Given the description of an element on the screen output the (x, y) to click on. 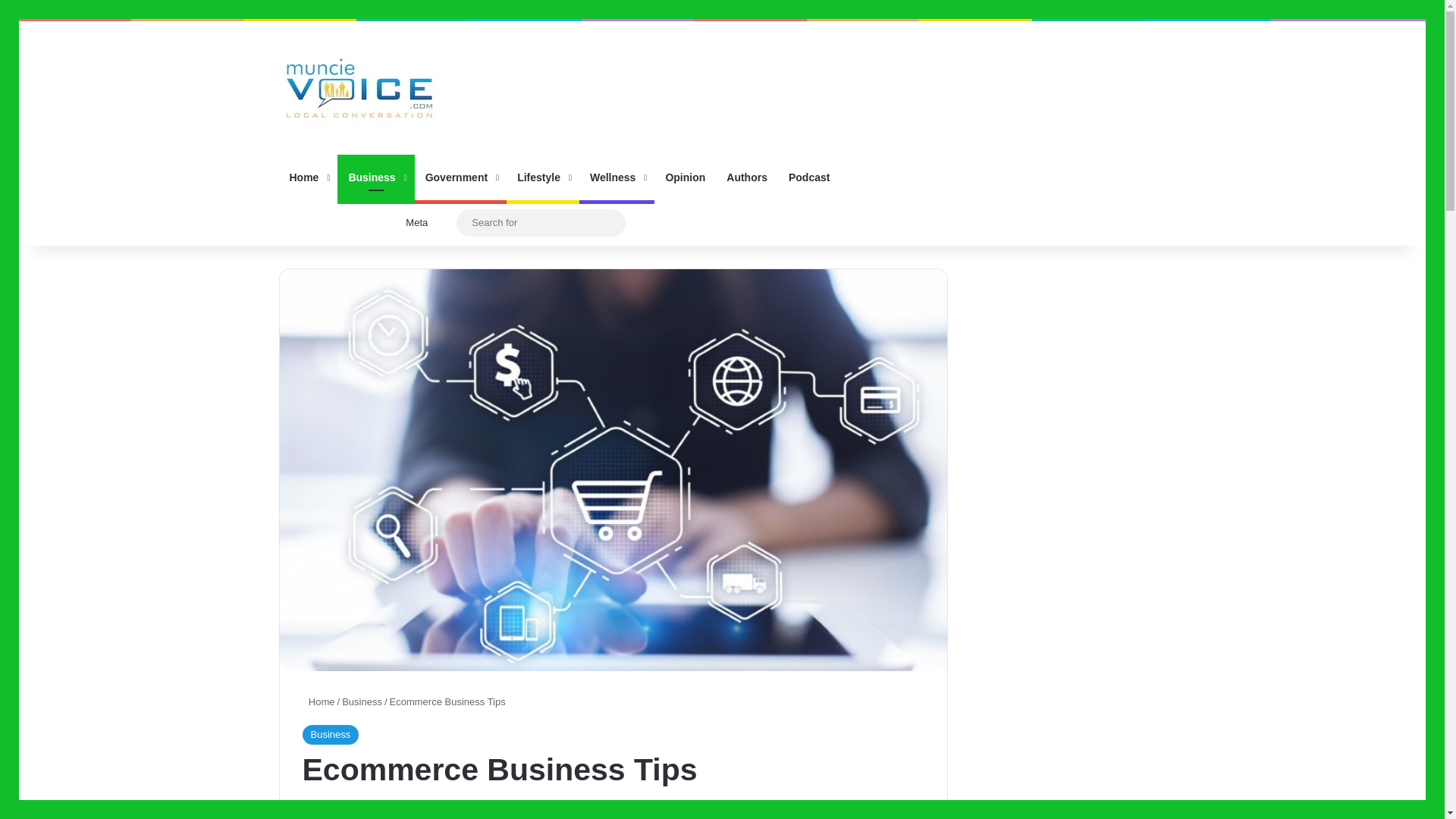
Authors (746, 176)
Muncie Voice (359, 87)
Podcast (808, 176)
Search for (610, 222)
Wellness (616, 176)
Opinion (684, 176)
Home (317, 701)
Search for (541, 221)
Government (460, 176)
Home (308, 176)
Business (361, 701)
Business (329, 734)
Business (375, 176)
Lifestyle (542, 176)
